Given the description of an element on the screen output the (x, y) to click on. 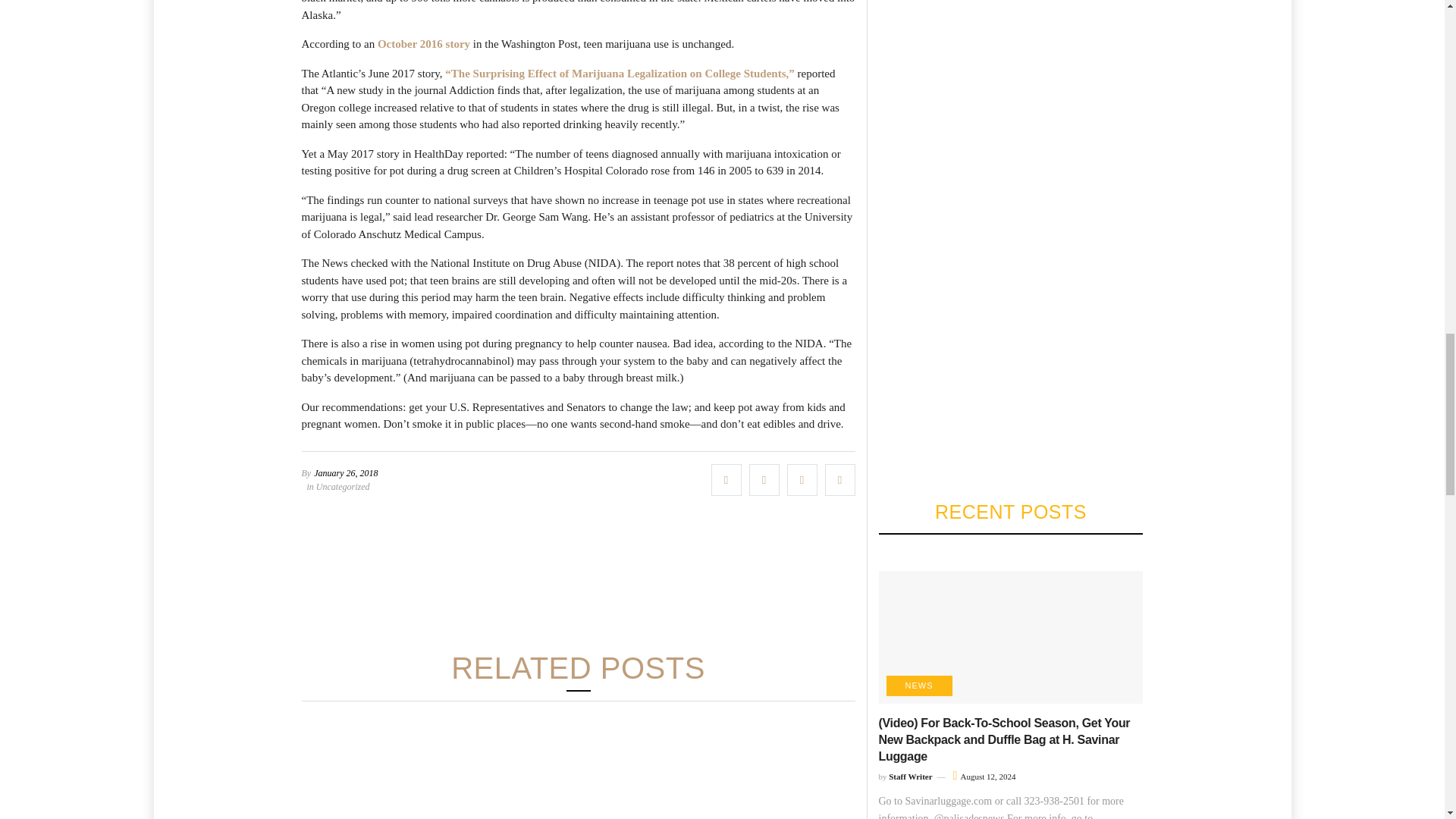
August 12, 2024 (984, 776)
3rd party ad content (577, 578)
October 2016 story (423, 43)
Staff Writer (909, 776)
Page 7 (578, 312)
NEWS (918, 685)
